Given the description of an element on the screen output the (x, y) to click on. 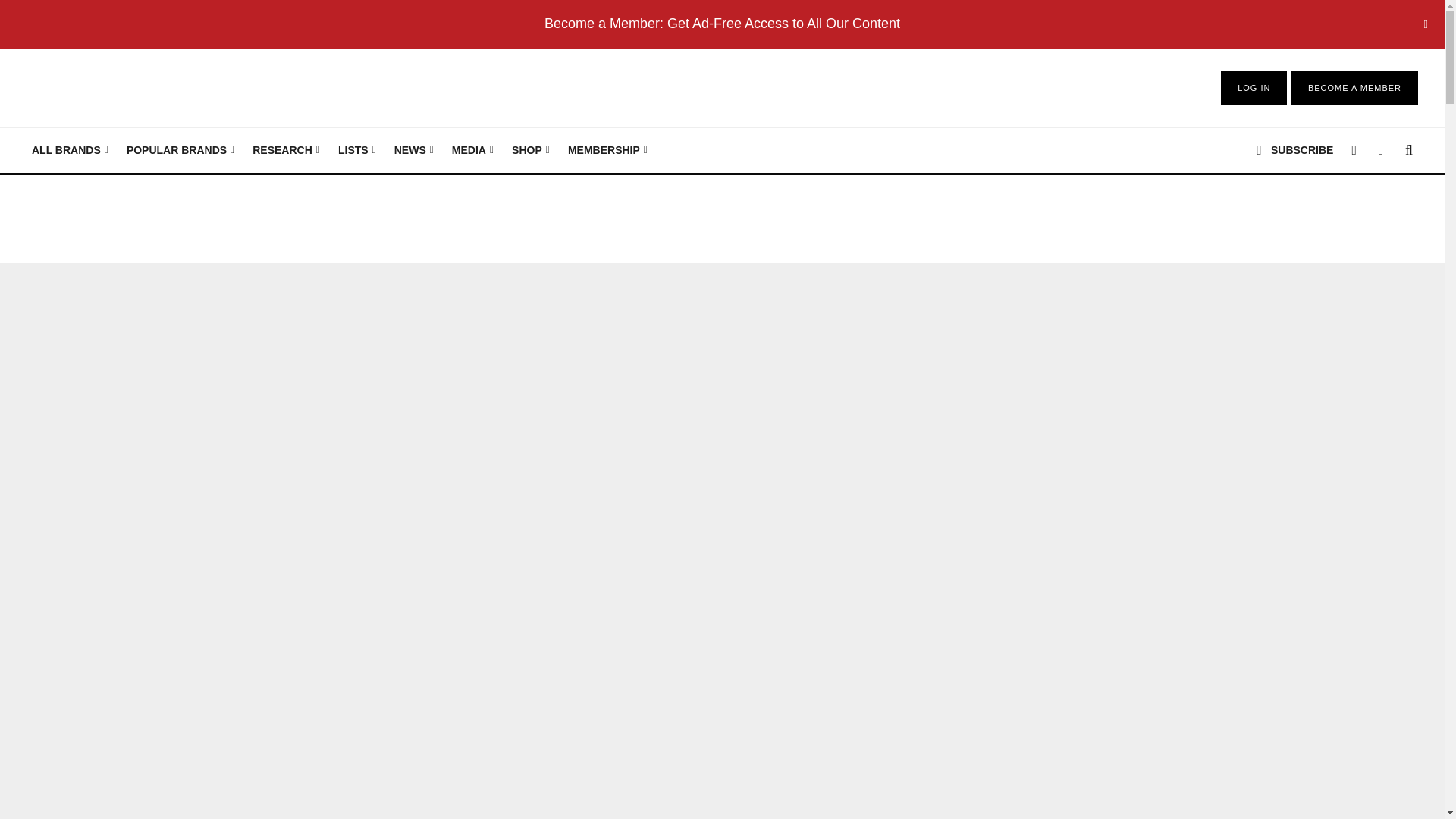
Become a Member: Get Ad-Free Access to All Our Content (721, 23)
ALL BRANDS (70, 149)
BECOME A MEMBER (1353, 87)
Become a Member: Get Ad-Free Access to All Our Content (721, 23)
LOG IN (1253, 87)
